Given the description of an element on the screen output the (x, y) to click on. 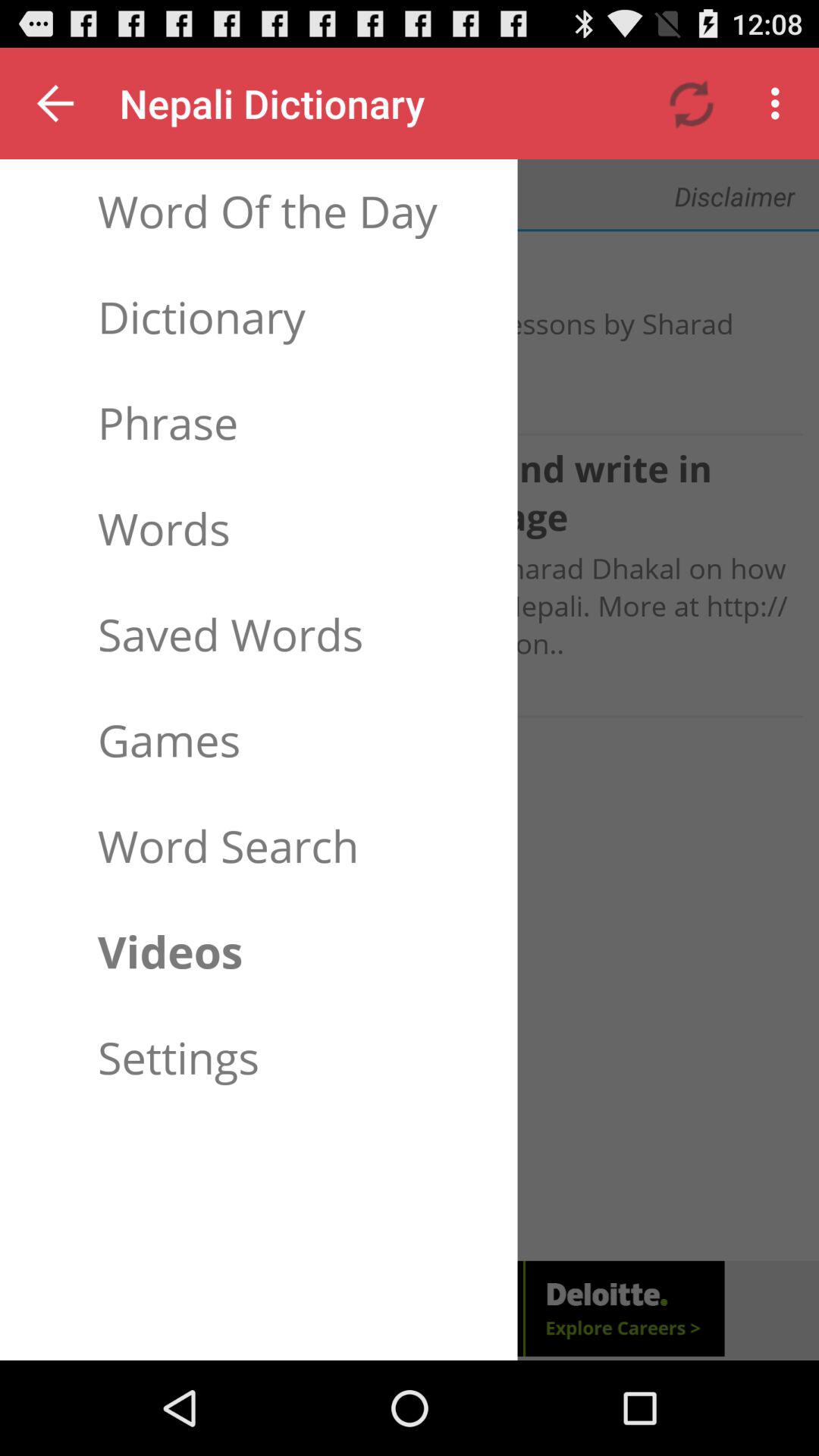
the three vertical dot icon at the top right corner (779, 103)
icon next to the text nepali dictionary at the top of the page (691, 103)
